Given the description of an element on the screen output the (x, y) to click on. 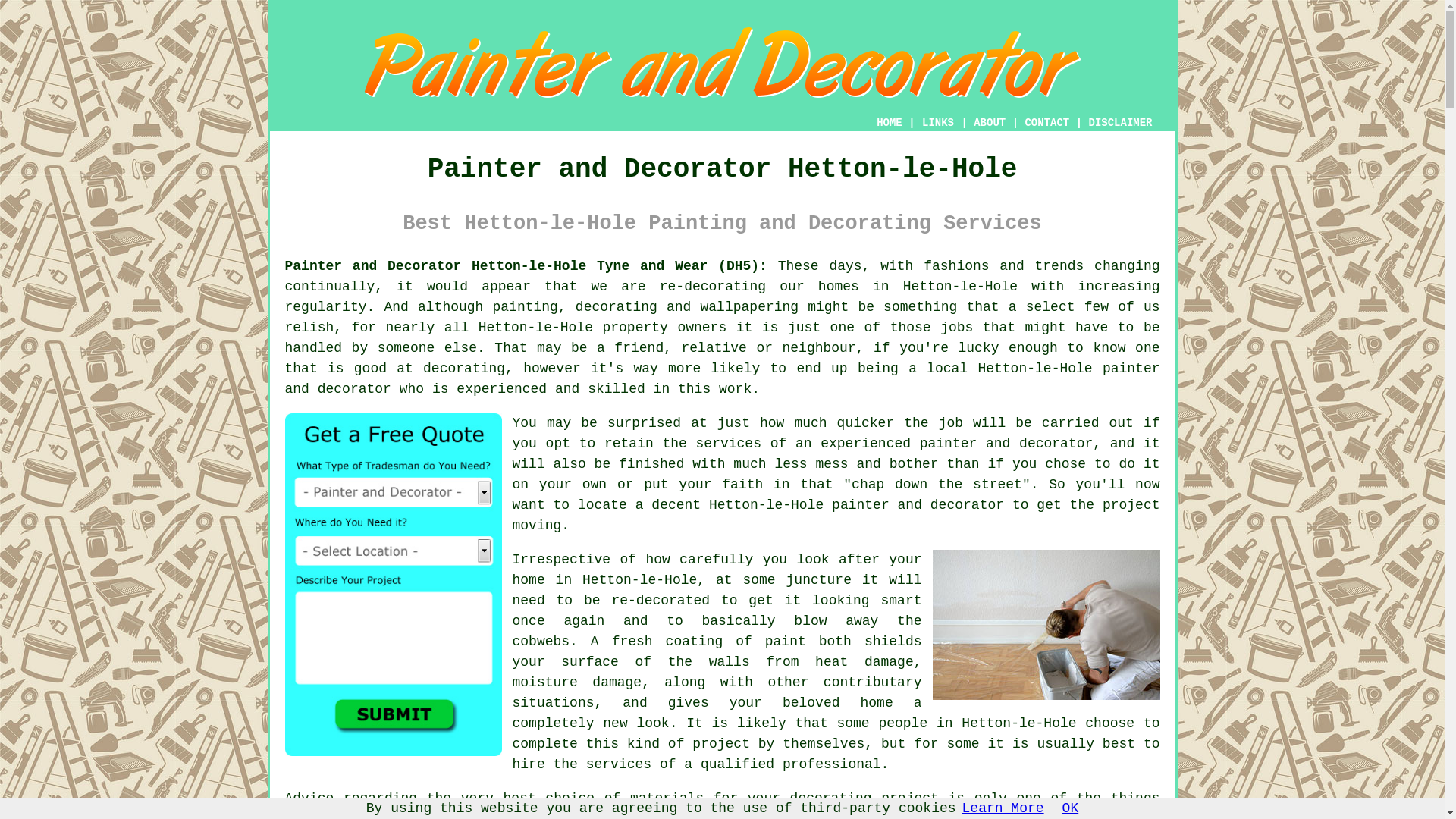
Painter and Decorator Hetton-le-Hole Tyne and Wear (722, 62)
LINKS (938, 122)
HOME (889, 122)
painter and decorator (917, 504)
